Given the description of an element on the screen output the (x, y) to click on. 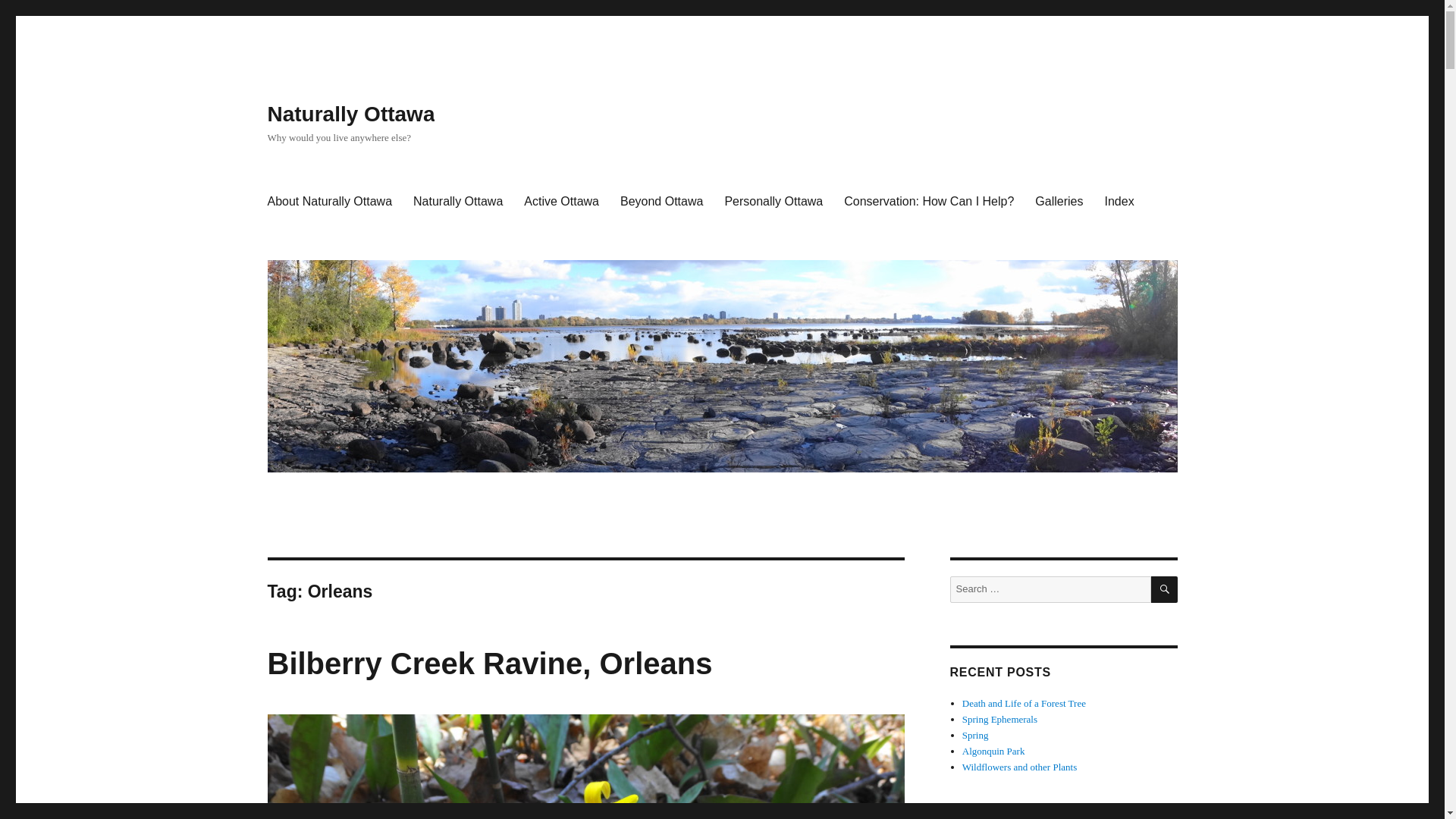
Spring Ephemerals (999, 718)
Naturally Ottawa (458, 201)
Active Ottawa (561, 201)
Wildflowers and other Plants (1019, 767)
About Naturally Ottawa (329, 201)
Personally Ottawa (772, 201)
Algonquin Park (993, 750)
Spring (975, 735)
Conservation: How Can I Help? (928, 201)
Index (1118, 201)
